Given the description of an element on the screen output the (x, y) to click on. 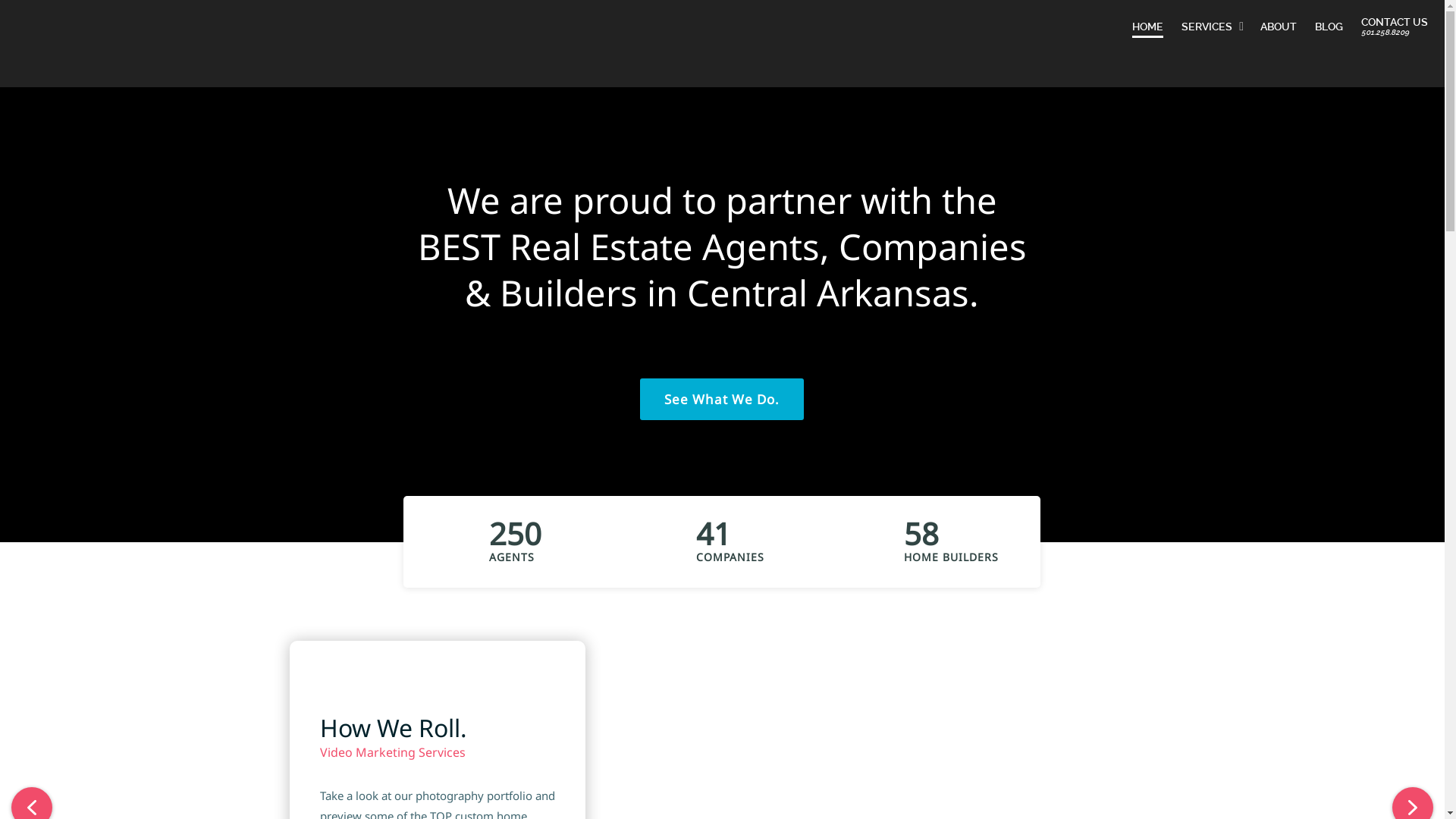
BLOG Element type: text (1328, 26)
CONTACT US
501.258.8209 Element type: text (1394, 26)
ABOUT Element type: text (1278, 26)
SERVICES Element type: text (1211, 26)
HOME Element type: text (1147, 26)
See What We Do. Element type: text (721, 398)
